Given the description of an element on the screen output the (x, y) to click on. 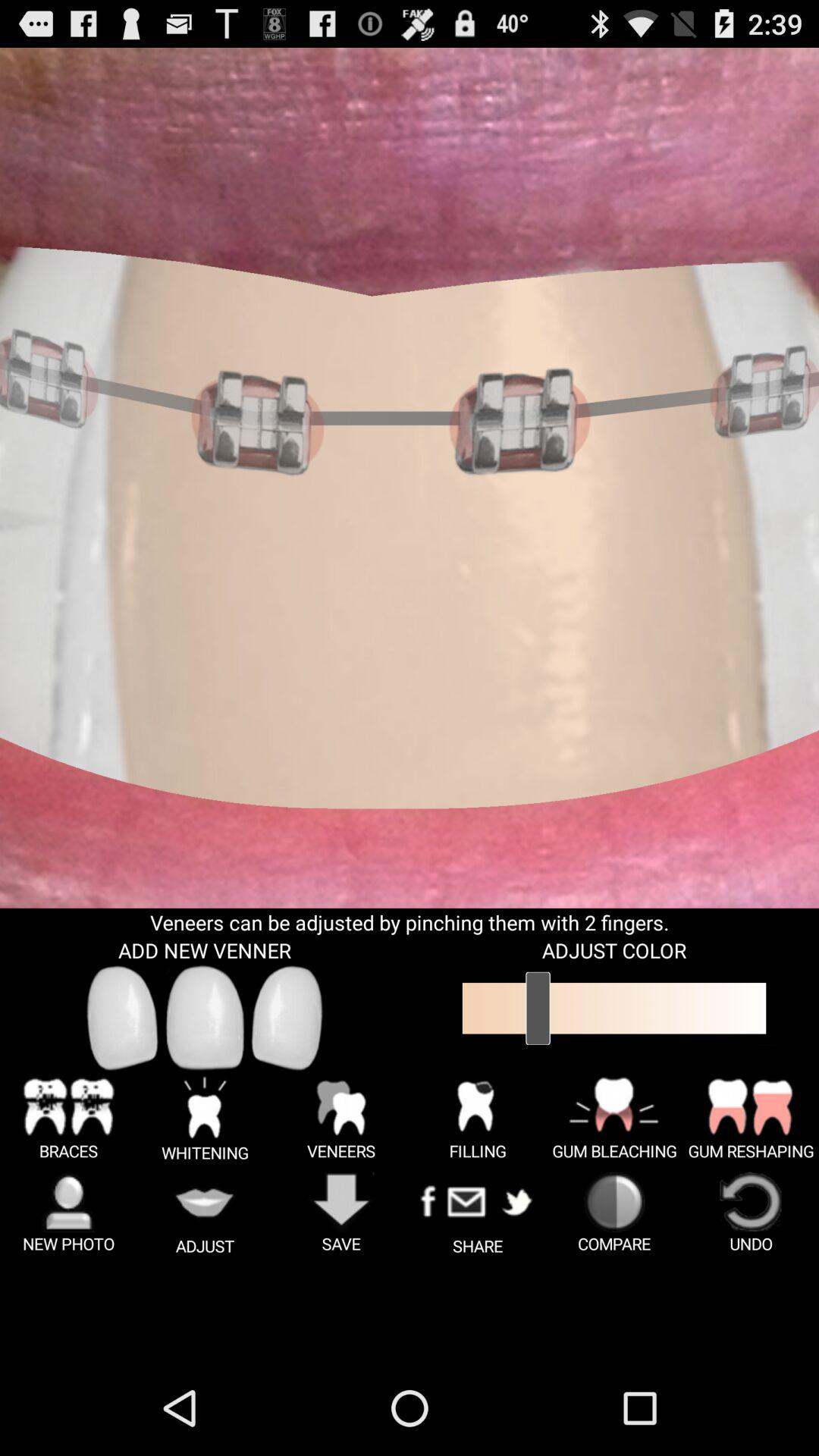
add new (287, 1017)
